Given the description of an element on the screen output the (x, y) to click on. 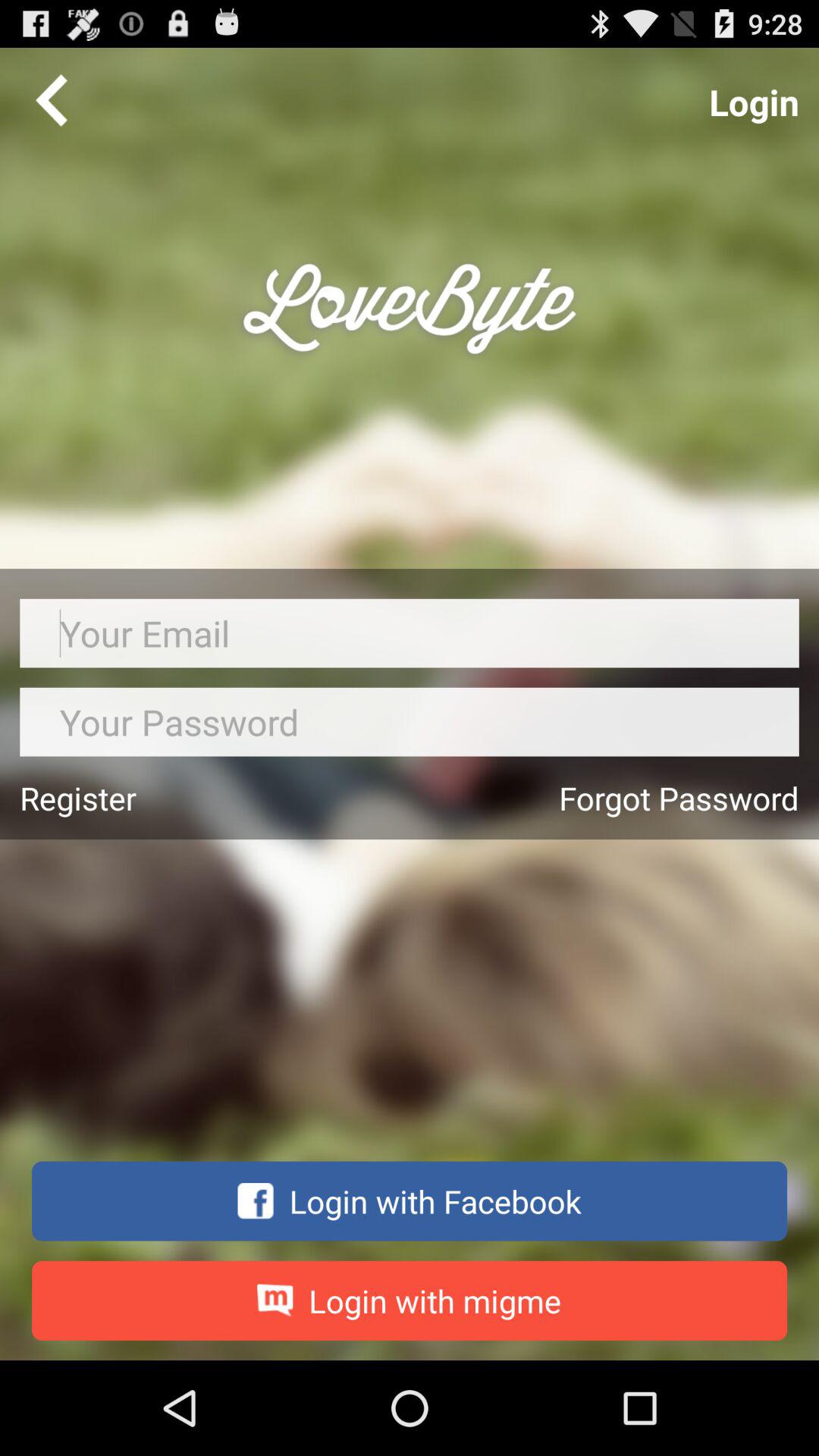
enter your password (409, 721)
